Given the description of an element on the screen output the (x, y) to click on. 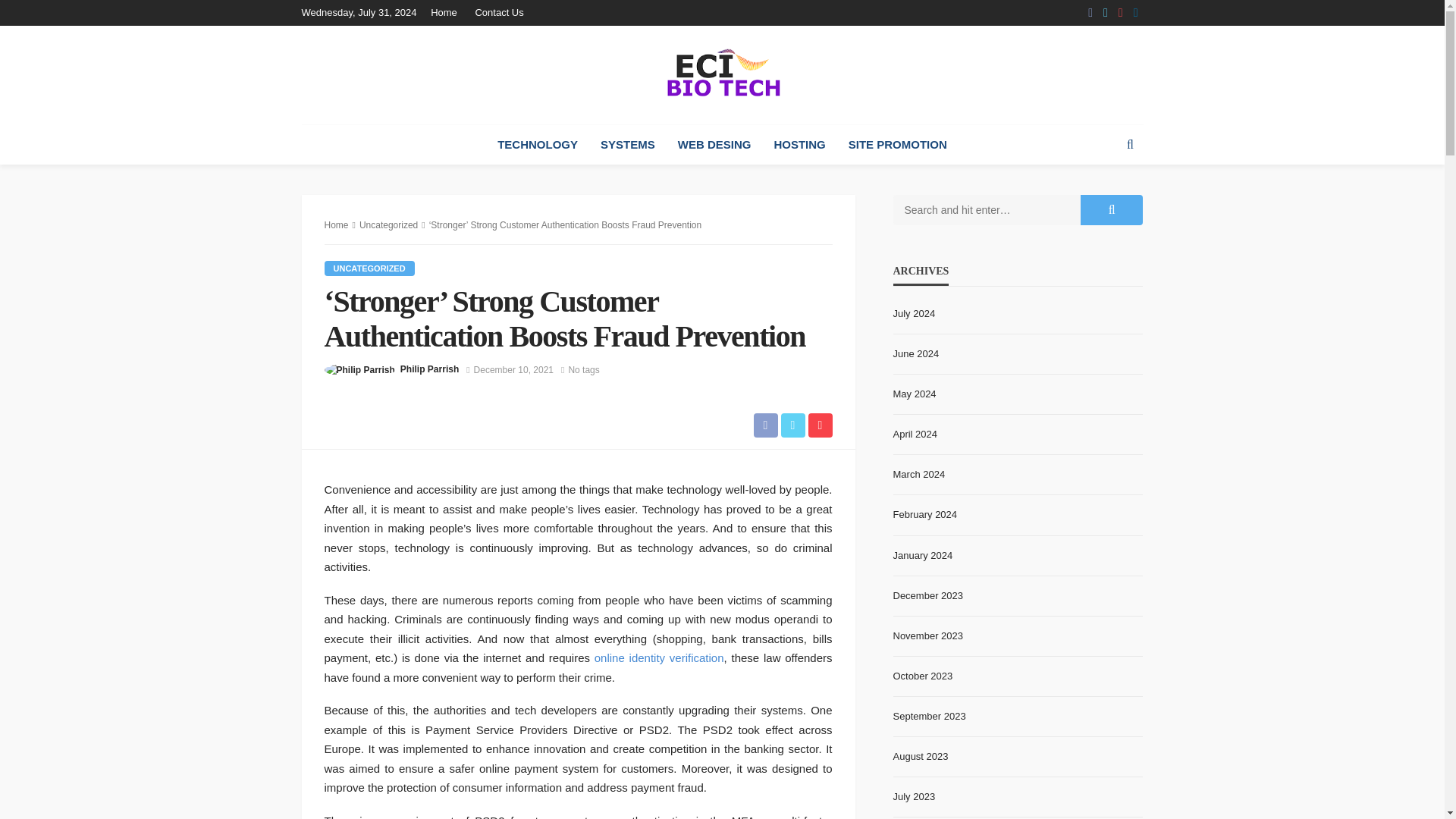
HOSTING (798, 144)
Search for: (986, 209)
online identity verification (658, 657)
UNCATEGORIZED (369, 268)
SYSTEMS (627, 144)
Uncategorized (369, 268)
Home (447, 12)
Home (336, 225)
Uncategorized (388, 225)
WEB DESING (714, 144)
Contact Us (499, 12)
SITE PROMOTION (897, 144)
TECHNOLOGY (537, 144)
Philip Parrish (429, 368)
